Given the description of an element on the screen output the (x, y) to click on. 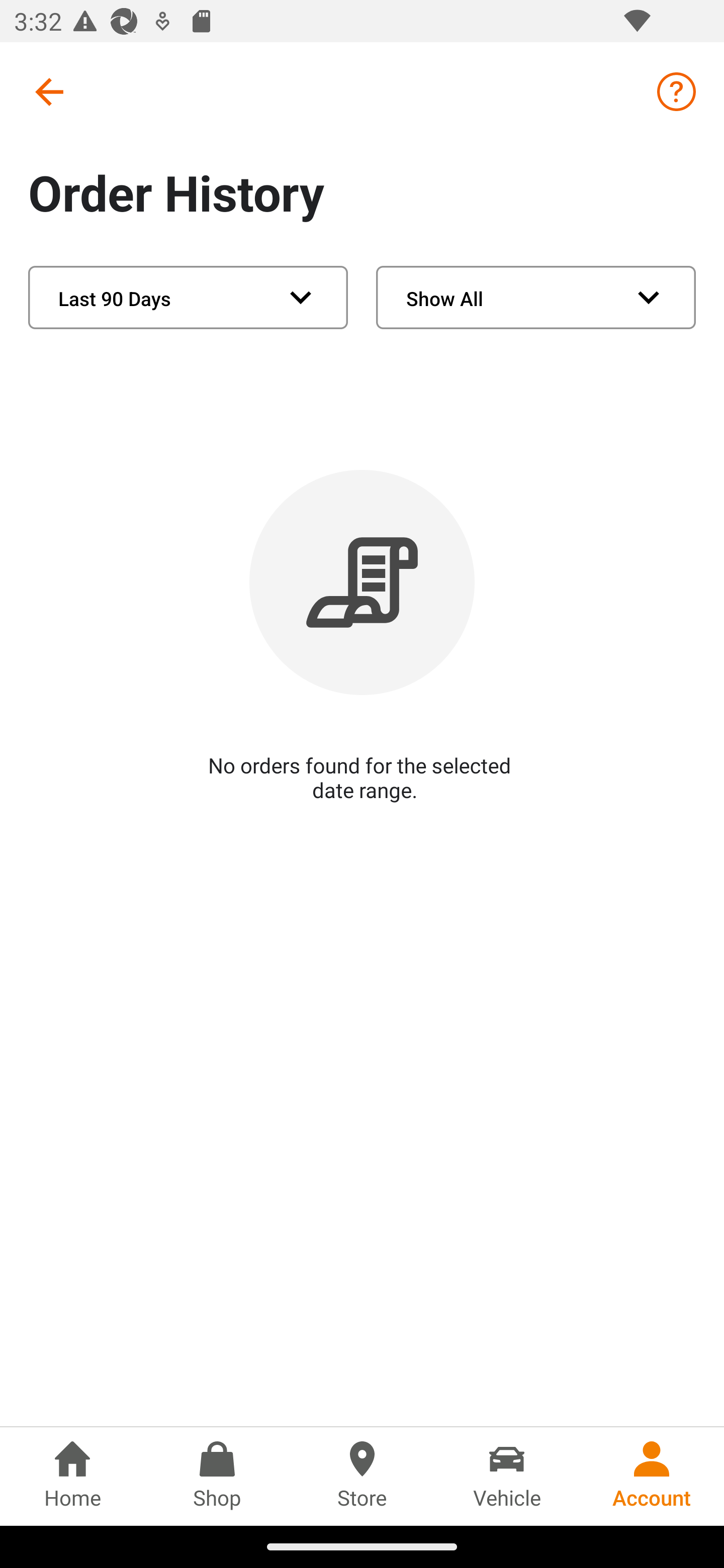
back-button  (49, 91)
questions or concerns (676, 91)
filter by date menu, collapsed Last 90 Days  (188, 297)
filter by type of order menu, collapsed Show All  (535, 297)
Home (72, 1475)
Shop (216, 1475)
Store (361, 1475)
Vehicle (506, 1475)
Account (651, 1475)
